Given the description of an element on the screen output the (x, y) to click on. 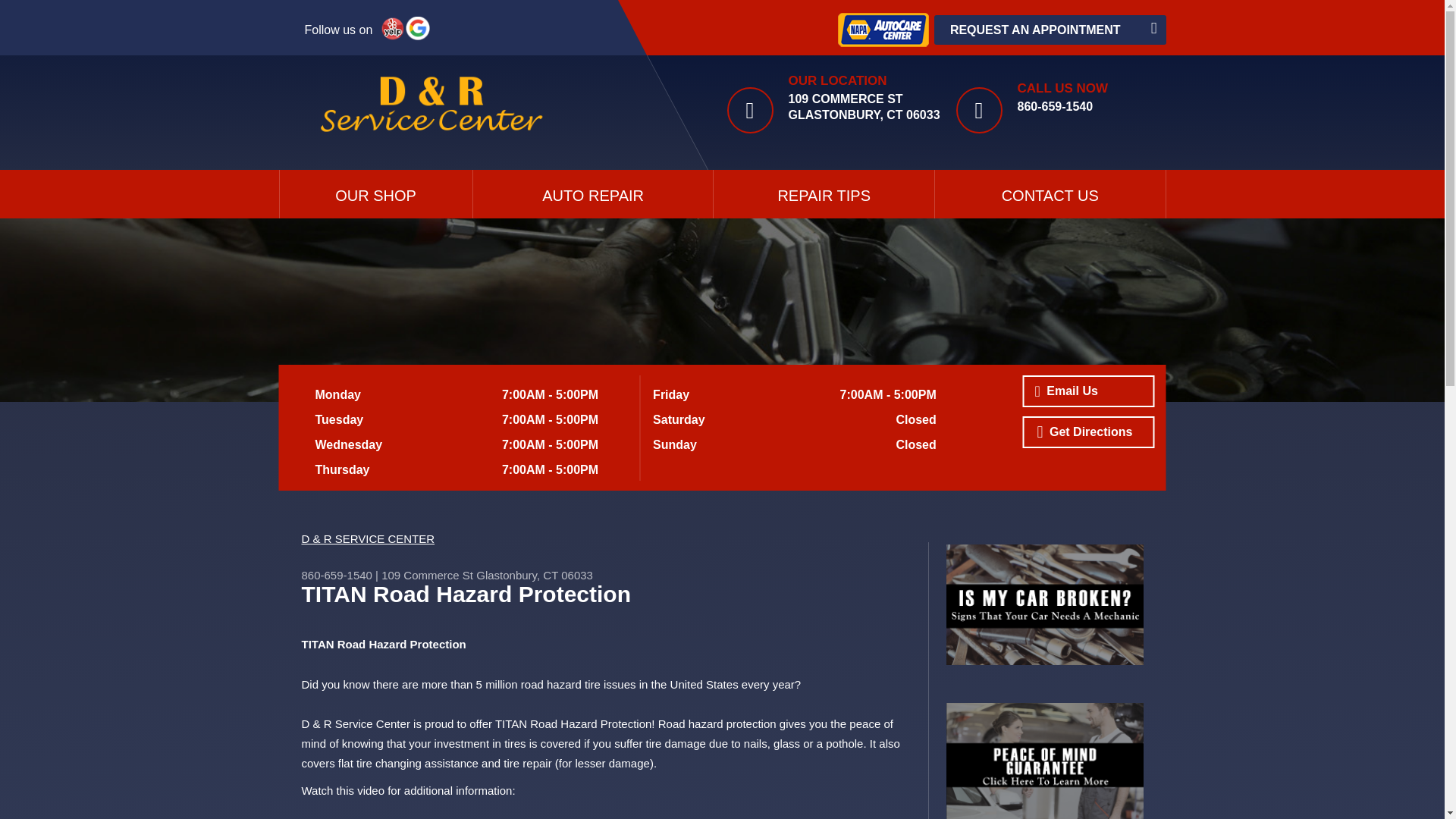
OUR SHOP (375, 193)
Email Us (1088, 391)
REPAIR TIPS (823, 193)
Get Directions (1088, 431)
CONTACT US (1050, 193)
REQUEST AN APPOINTMENT (1050, 30)
109 Commerce St (427, 574)
AUTO REPAIR (593, 193)
860-659-1540 (336, 574)
860-659-1540 (1055, 106)
